Given the description of an element on the screen output the (x, y) to click on. 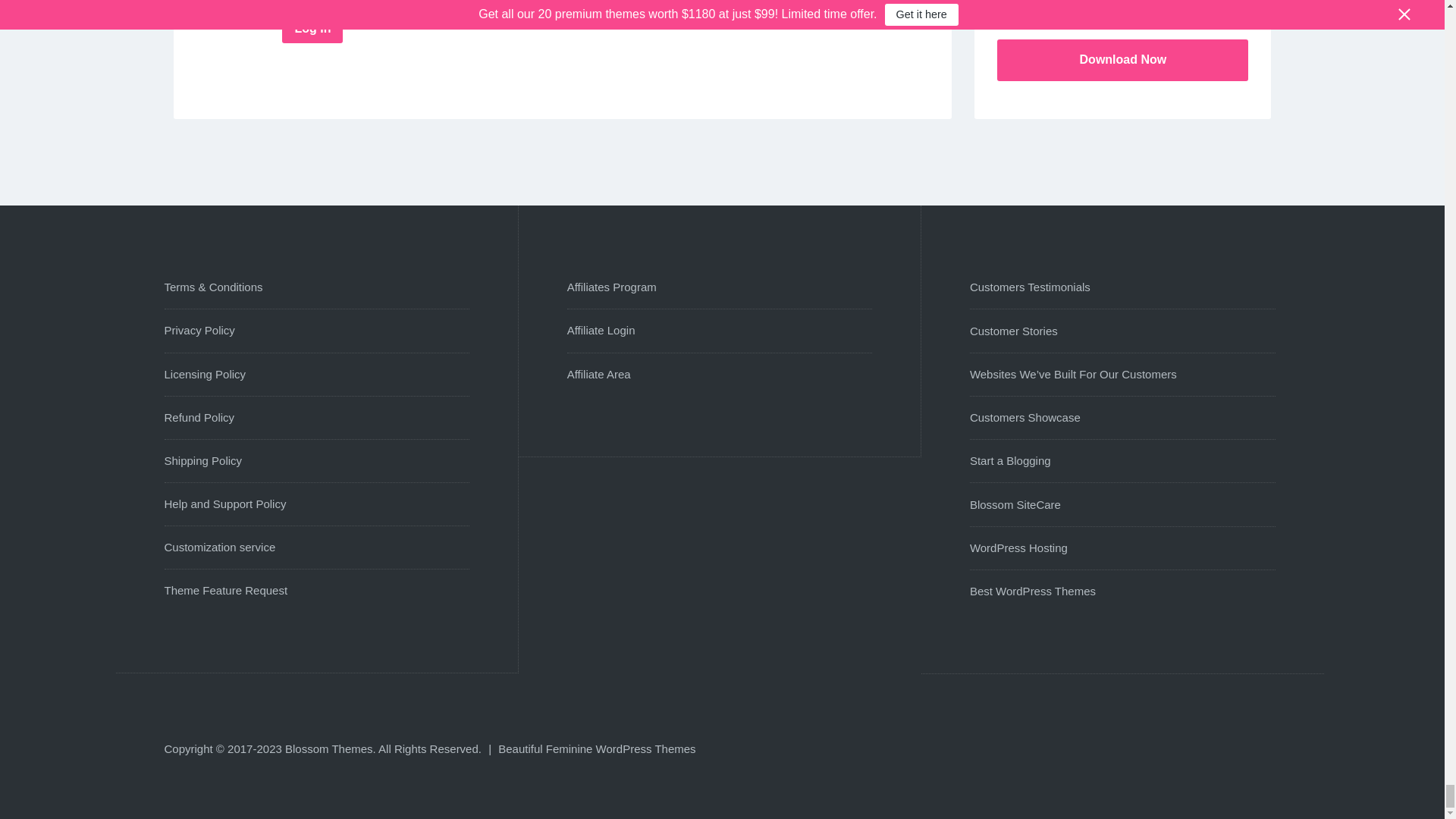
Log In (312, 28)
